Given the description of an element on the screen output the (x, y) to click on. 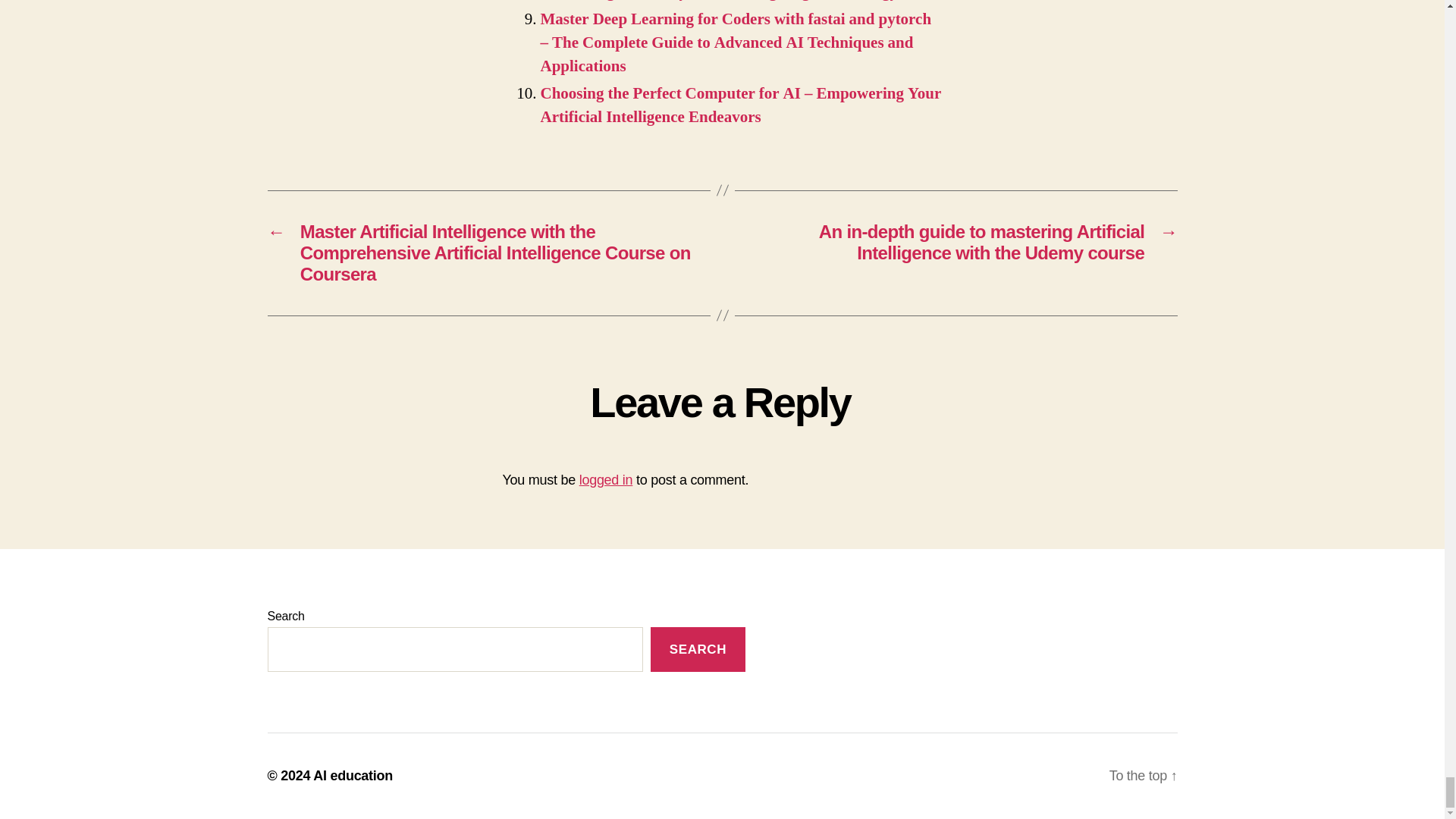
SEARCH (697, 649)
logged in (606, 479)
AI education (353, 775)
